Given the description of an element on the screen output the (x, y) to click on. 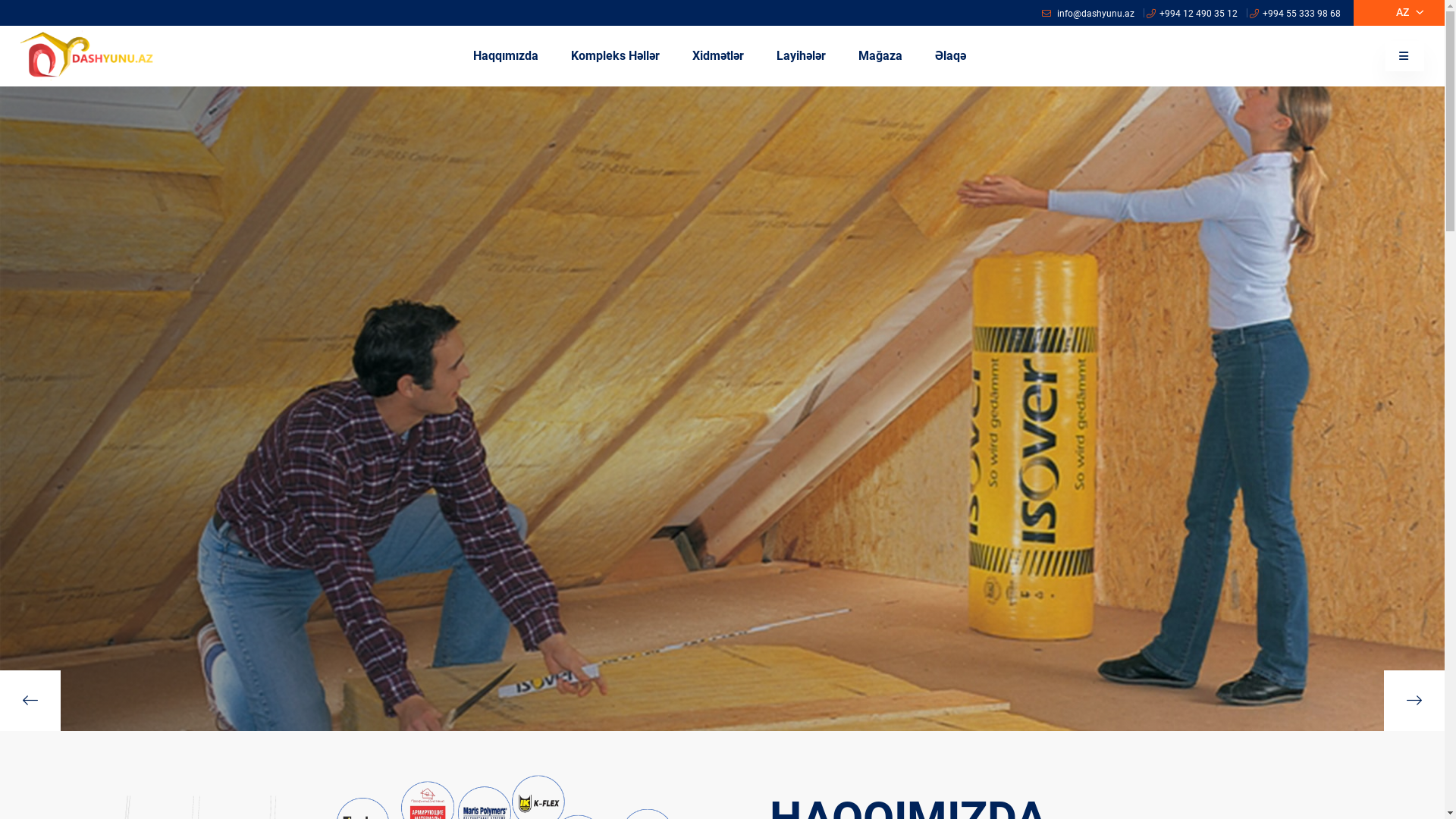
+994 55 333 98 68      Element type: text (1300, 12)
info@dashyunu.az Element type: text (1087, 12)
+994 12 490 35 12 Element type: text (1191, 12)
